Given the description of an element on the screen output the (x, y) to click on. 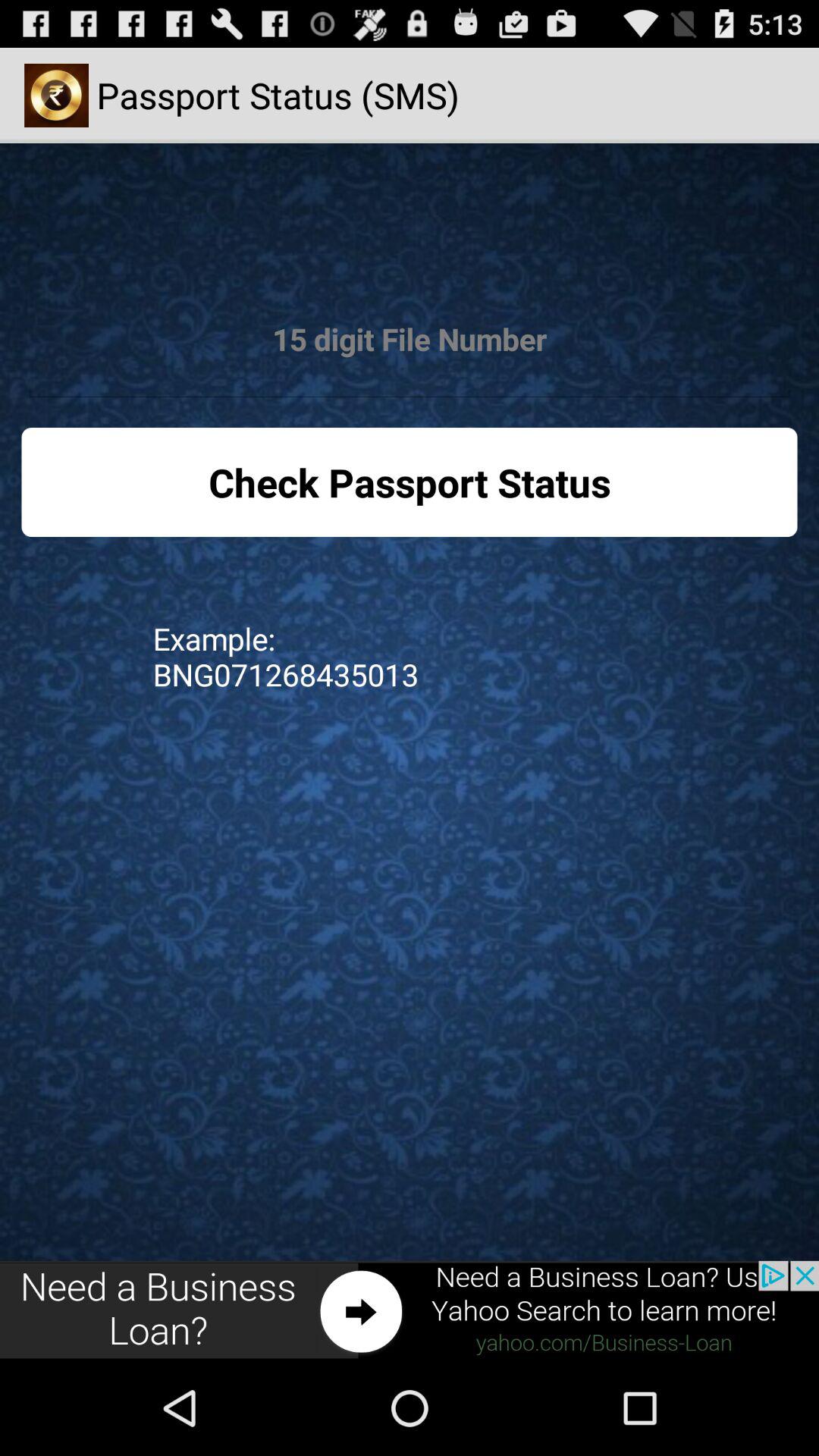
enter my file number (409, 339)
